Given the description of an element on the screen output the (x, y) to click on. 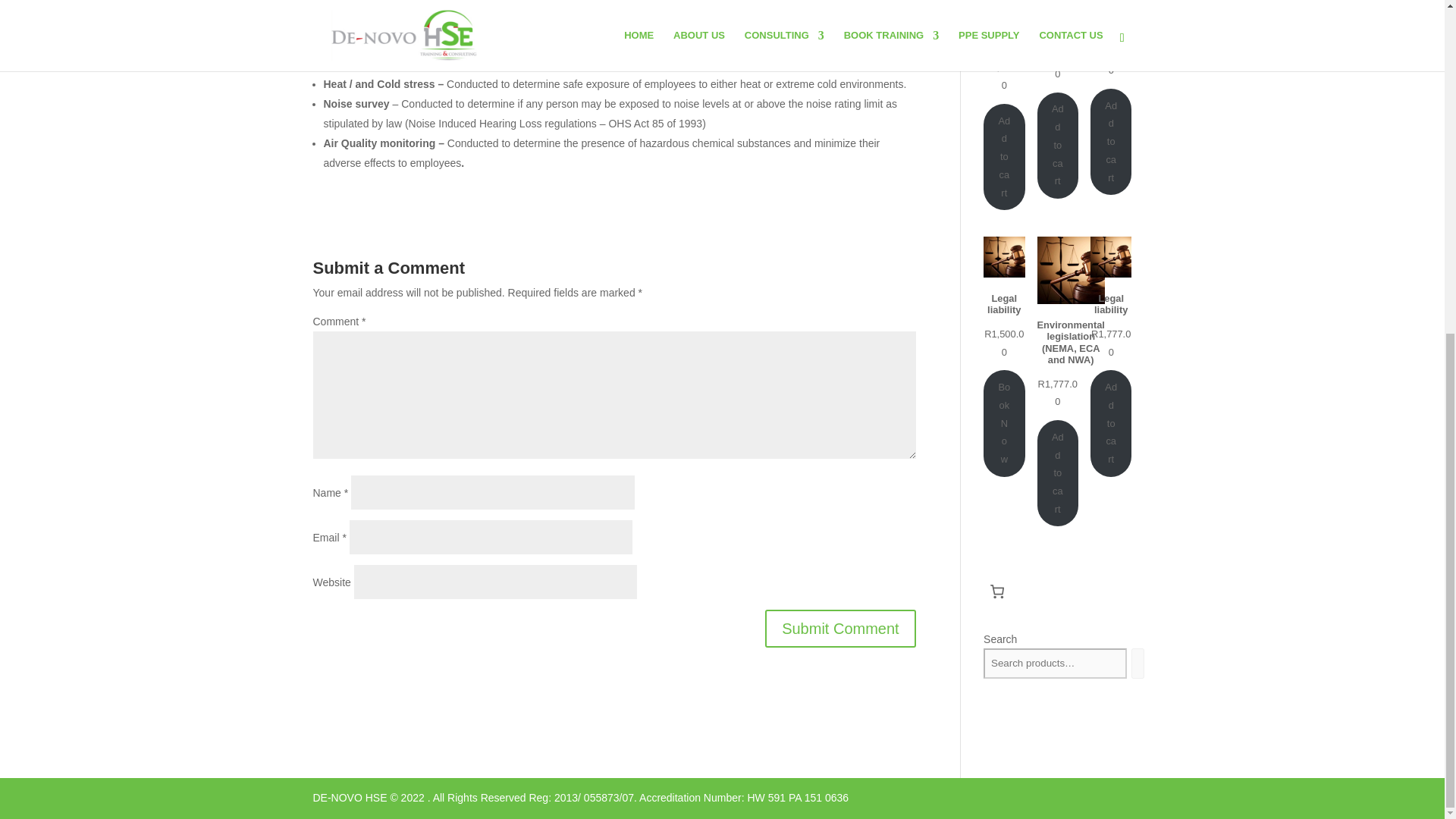
Submit Comment (840, 628)
OHSAS 18001 Introduction (1118, 21)
ISO 14001: 2015 EMS Implementation (1019, 29)
Submit Comment (840, 628)
OHSAS 18001 Implementation (1072, 23)
